Given the description of an element on the screen output the (x, y) to click on. 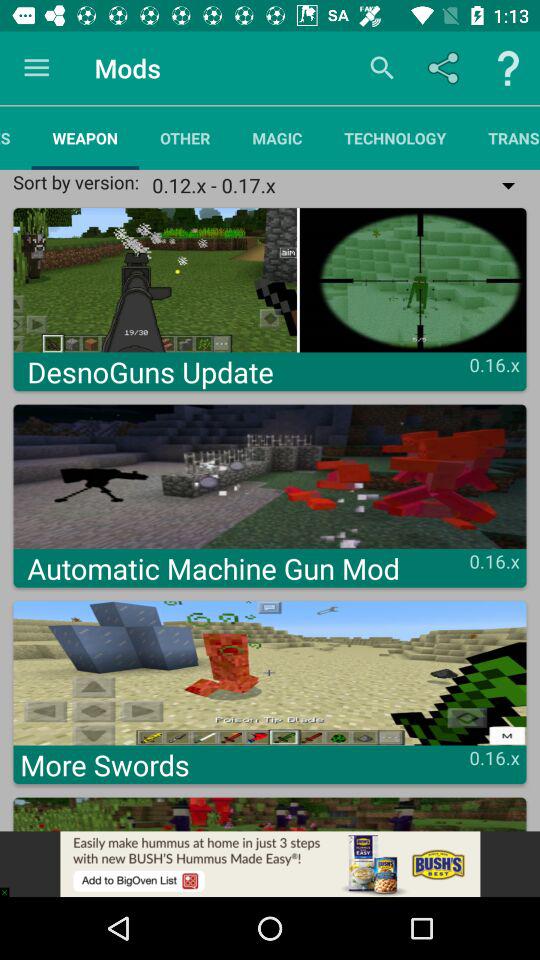
choose the item to the right of the magic (395, 137)
